Given the description of an element on the screen output the (x, y) to click on. 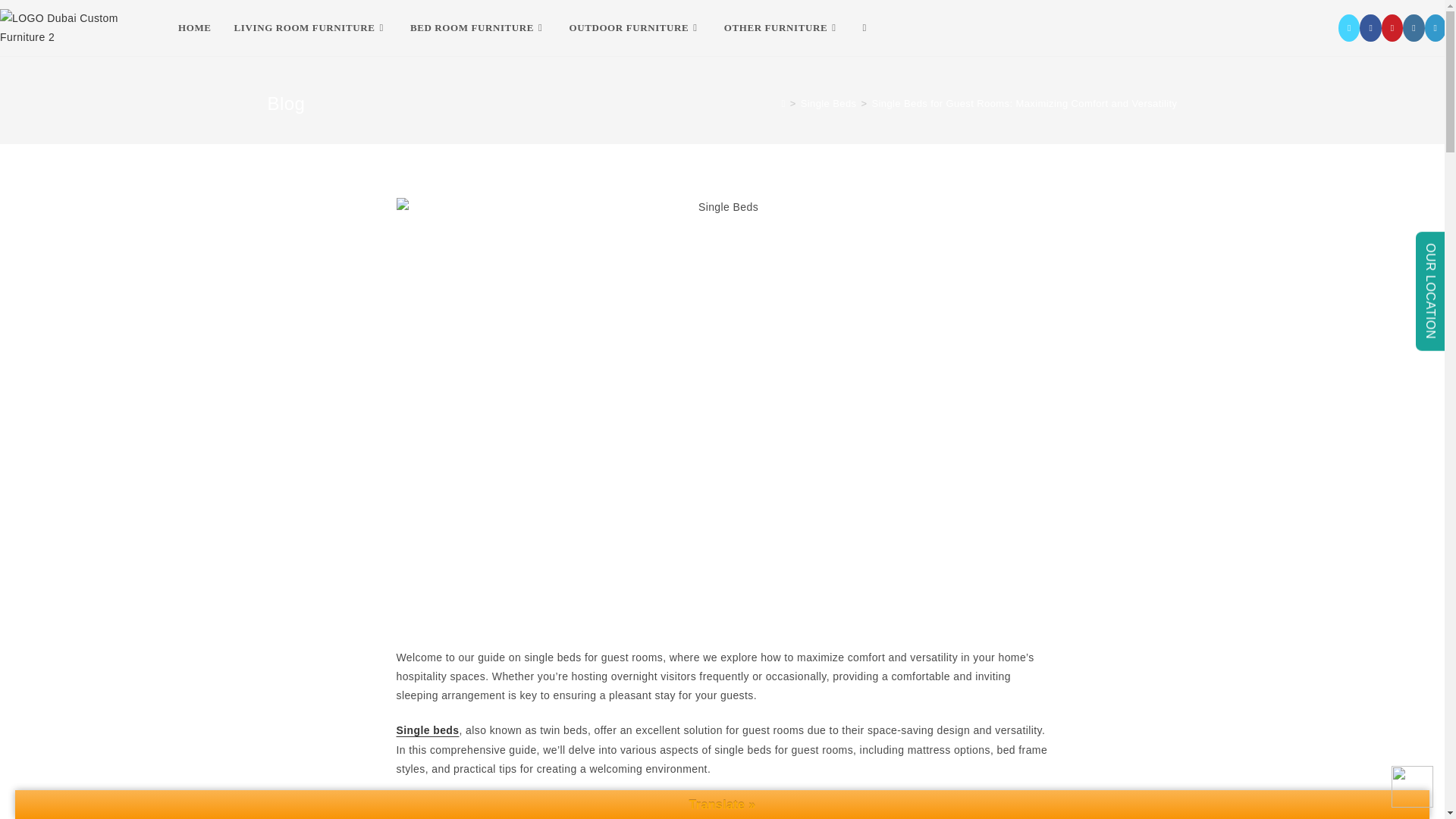
HOME (194, 28)
LIVING ROOM FURNITURE (310, 28)
BED ROOM FURNITURE (477, 28)
